Given the description of an element on the screen output the (x, y) to click on. 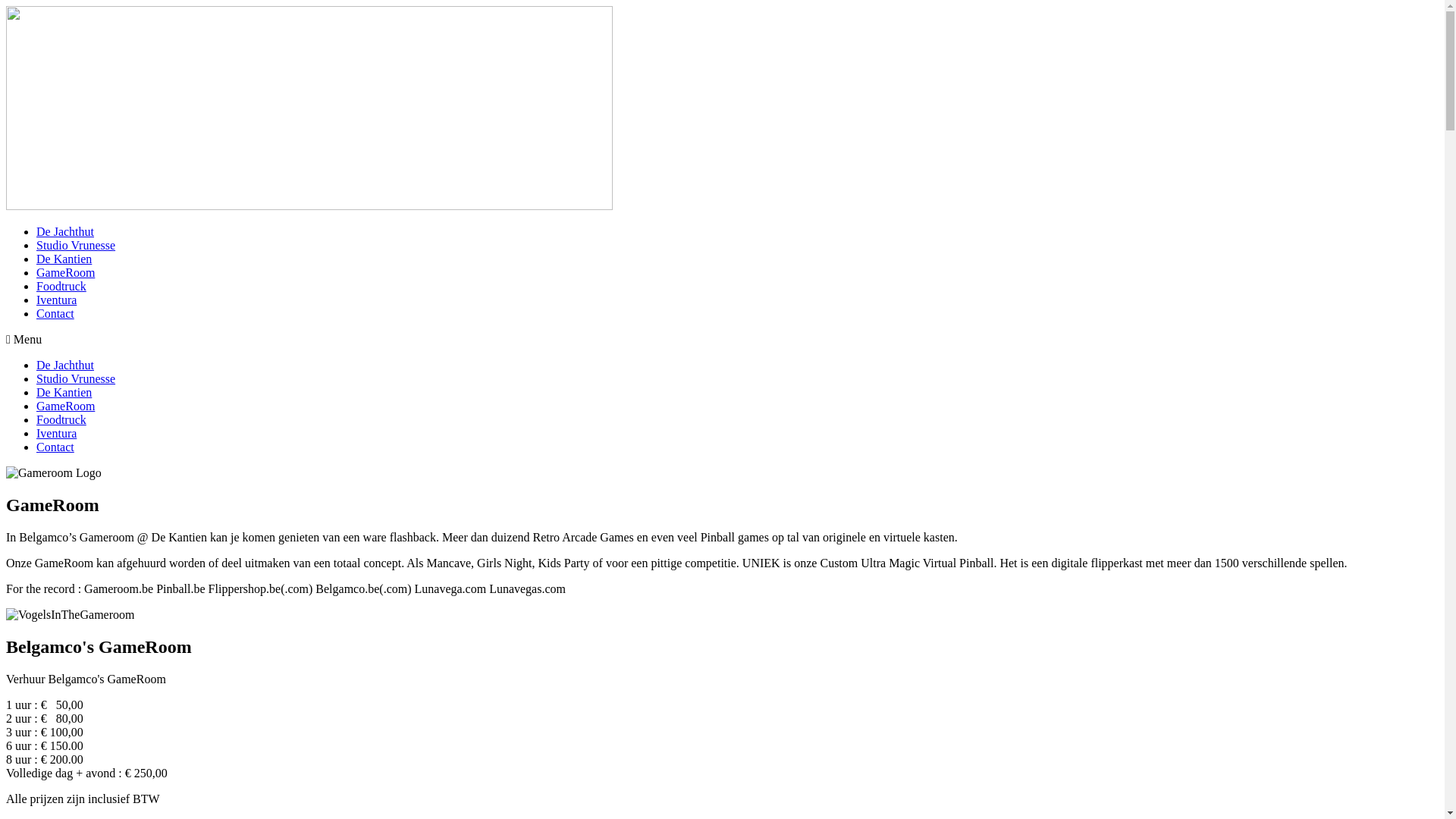
Foodtruck Element type: text (61, 285)
GameRoom Element type: text (65, 405)
De Jachthut Element type: text (65, 364)
Contact Element type: text (55, 313)
Contact Element type: text (55, 446)
Studio Vrunesse Element type: text (75, 244)
GameRoom Element type: text (65, 272)
Iventura Element type: text (56, 432)
Studio Vrunesse Element type: text (75, 378)
De Kantien Element type: text (63, 391)
De Jachthut Element type: text (65, 231)
Iventura Element type: text (56, 299)
Foodtruck Element type: text (61, 419)
De Kantien Element type: text (63, 258)
